Given the description of an element on the screen output the (x, y) to click on. 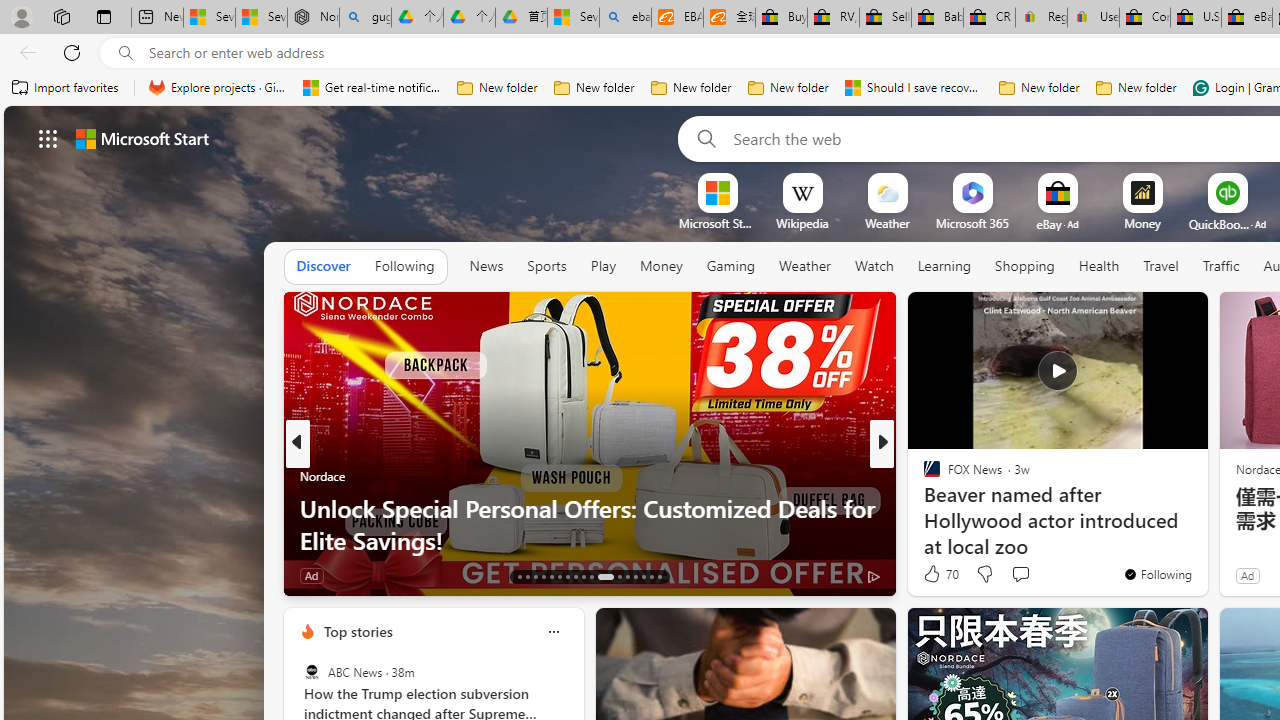
Weather (804, 265)
Traffic (1220, 267)
Nordace (938, 507)
Back (24, 52)
Start the conversation (1020, 574)
AutomationID: tab-18 (559, 576)
Play (603, 267)
Sports (546, 267)
Workspaces (61, 16)
Travel (1160, 265)
Weather (804, 267)
Watch (874, 265)
70 Like (939, 574)
More options (553, 631)
AutomationID: tab-23 (605, 576)
